Given the description of an element on the screen output the (x, y) to click on. 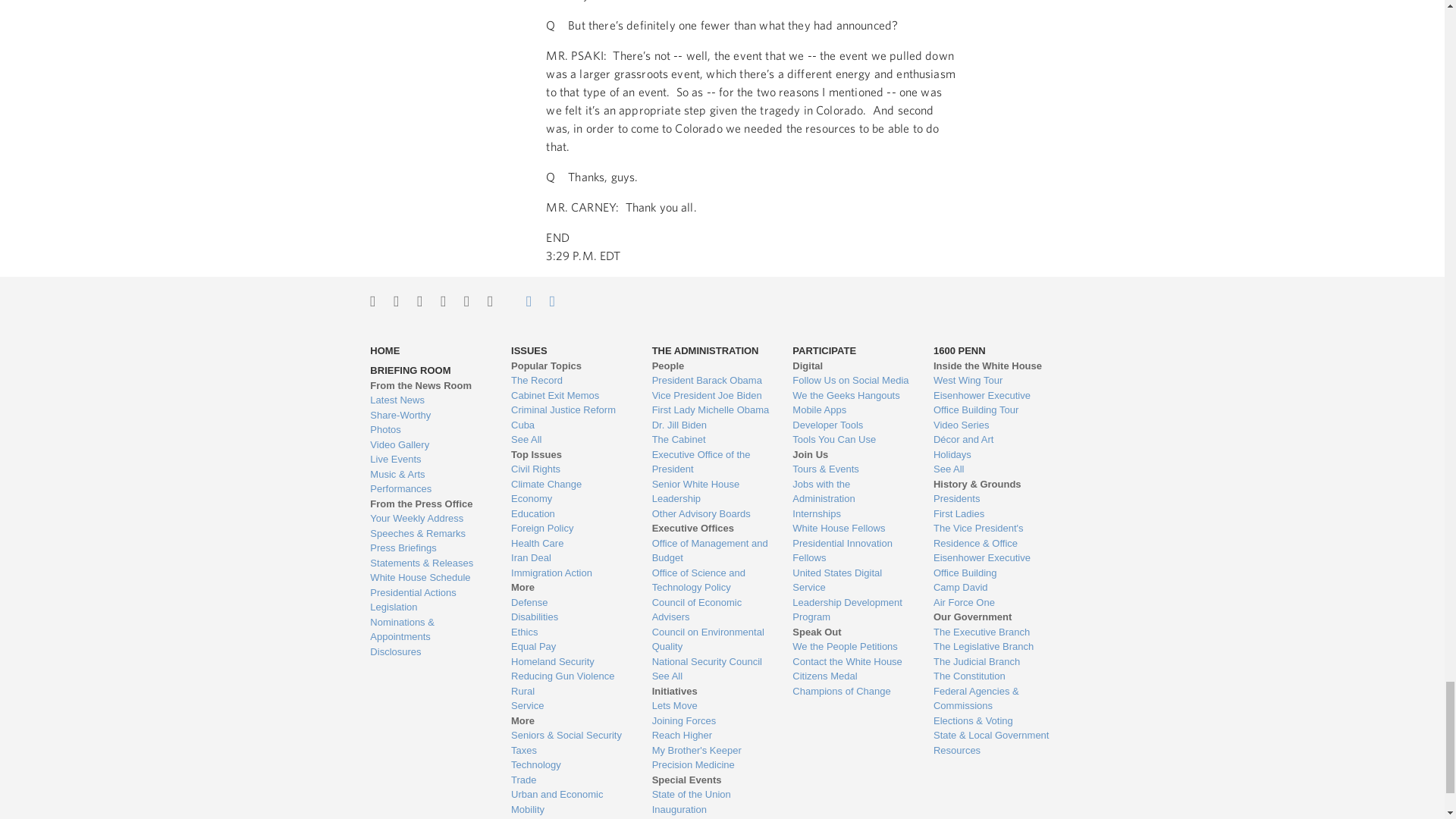
Follow the Whitehouse on Twitter. (372, 300)
Visit The Whitehouse Channel on Youtube. (466, 300)
More ways to engage with the Whitehouse. (490, 300)
Contact the Whitehouse. (521, 300)
View the photo of the day and other galleries (428, 429)
Email the Whitehouse. (552, 300)
Check out the most popular infographics and videos (428, 415)
Read the latest blog posts from 1600 Pennsylvania Ave (428, 400)
Watch behind-the-scenes videos and more (428, 444)
See the Whitehouse on Instagram. (395, 300)
Like the Whitehouse on Facebook. (419, 300)
